Given the description of an element on the screen output the (x, y) to click on. 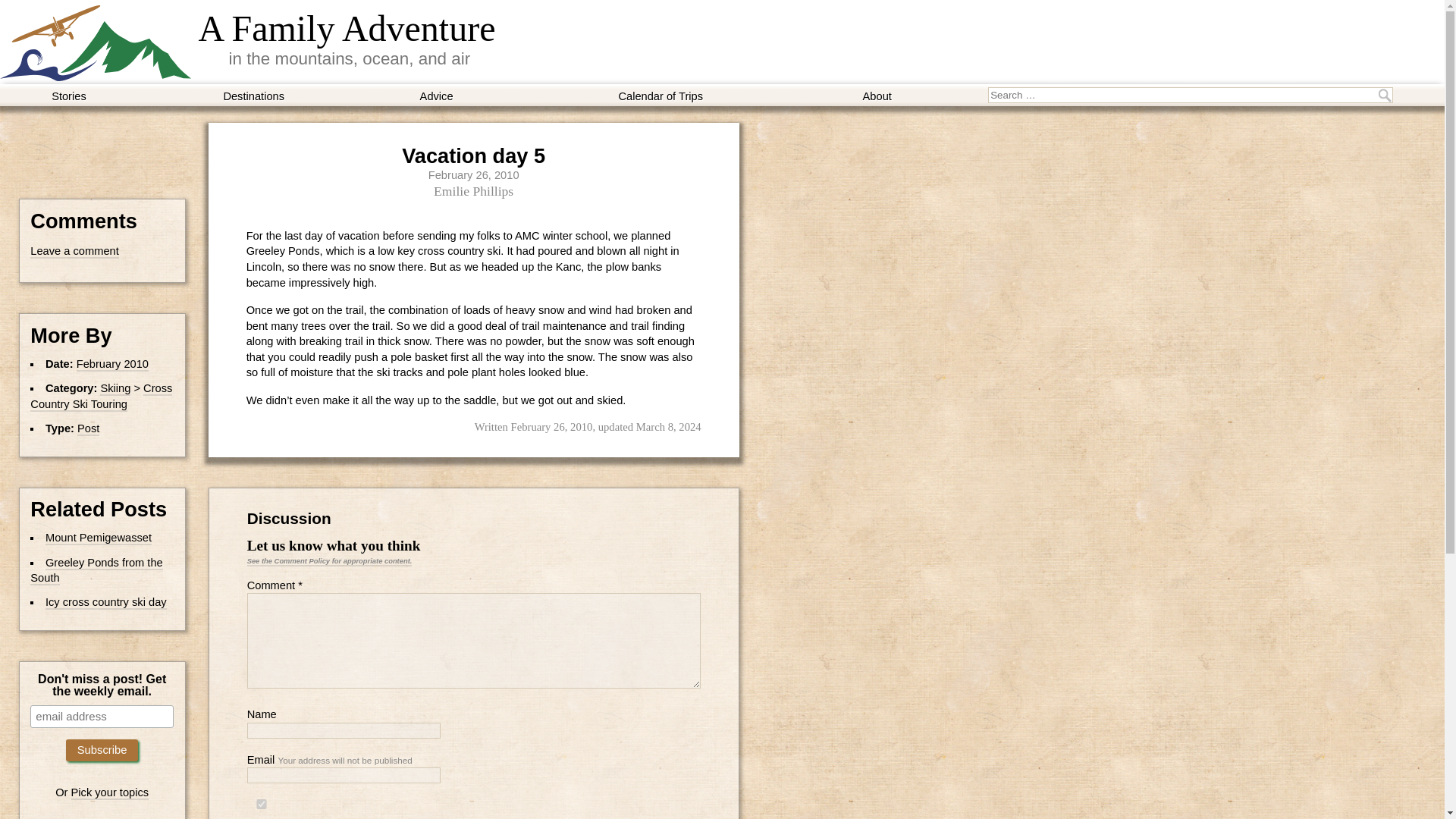
Vacation day 5 (472, 156)
Subscribe (101, 750)
yes (261, 804)
Cross Country Ski Touring (100, 396)
Calendar of Trips (660, 95)
Mount Pemigewasset (98, 538)
Pick your topics (110, 793)
Subscribe (101, 750)
Stories (69, 95)
Advice (436, 95)
Greeley Ponds from the South (95, 571)
Destinations (253, 95)
About (877, 95)
Leave a comment (74, 251)
Icy cross country ski day (106, 602)
